Given the description of an element on the screen output the (x, y) to click on. 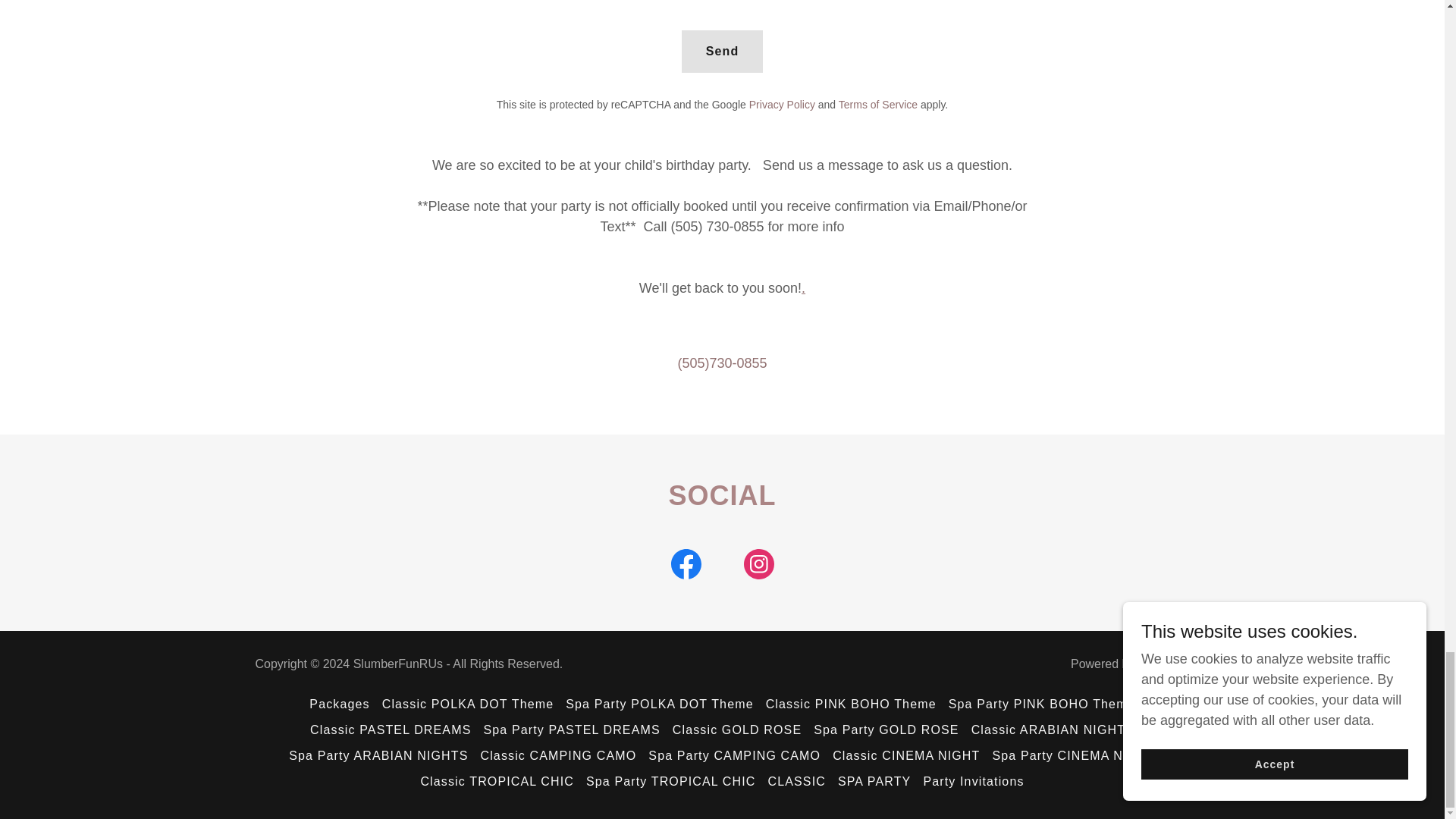
Terms of Service (877, 104)
GoDaddy (1163, 663)
Privacy Policy (782, 104)
Send (721, 51)
